Given the description of an element on the screen output the (x, y) to click on. 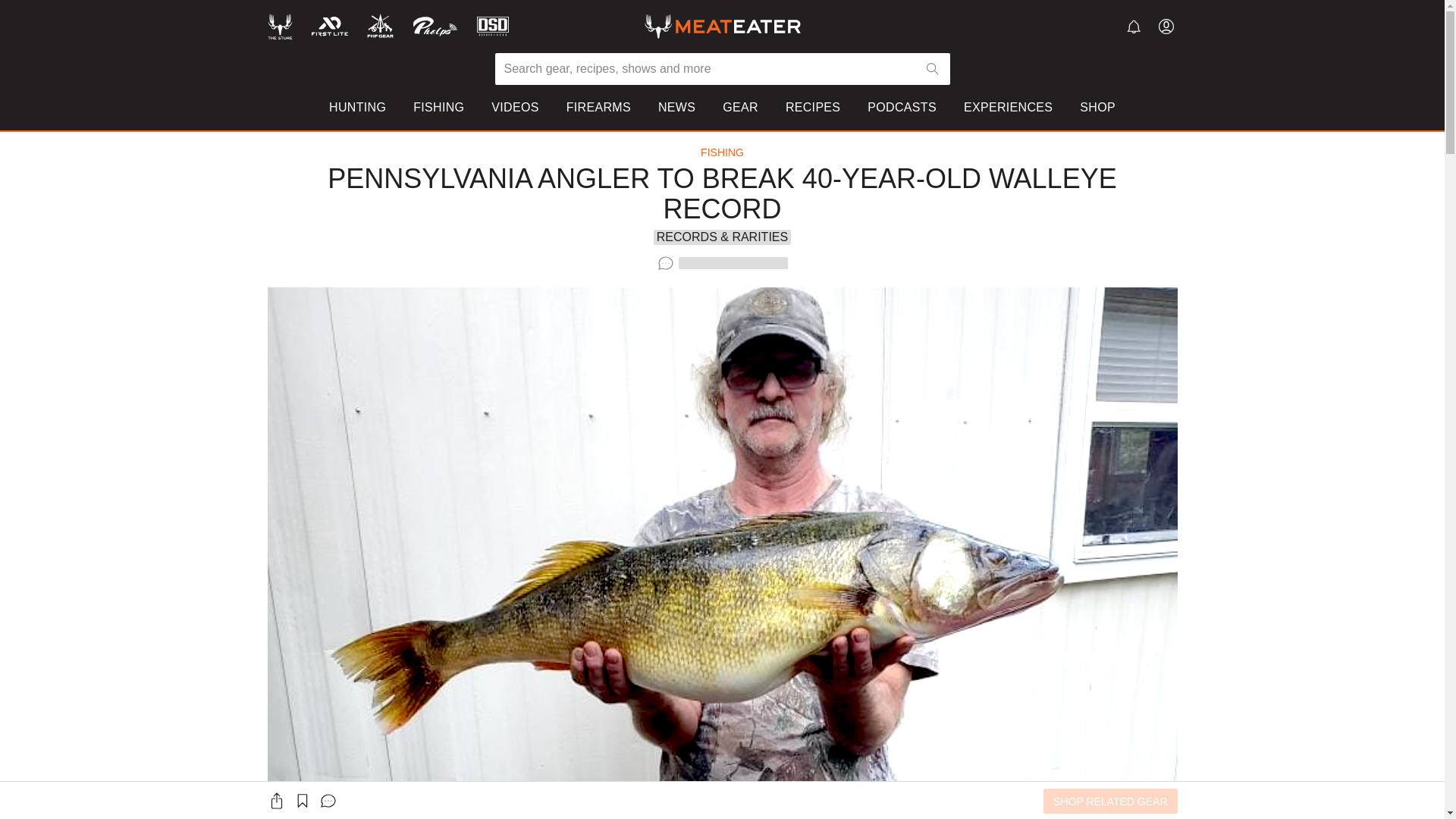
rifle selection (757, 177)
pants (904, 177)
bar room banter (596, 199)
shot placement (763, 155)
gear we use (586, 155)
caliber battles (590, 177)
saddle hunting (408, 177)
deer butchering (764, 199)
venison (1048, 155)
duck (1040, 177)
